Given the description of an element on the screen output the (x, y) to click on. 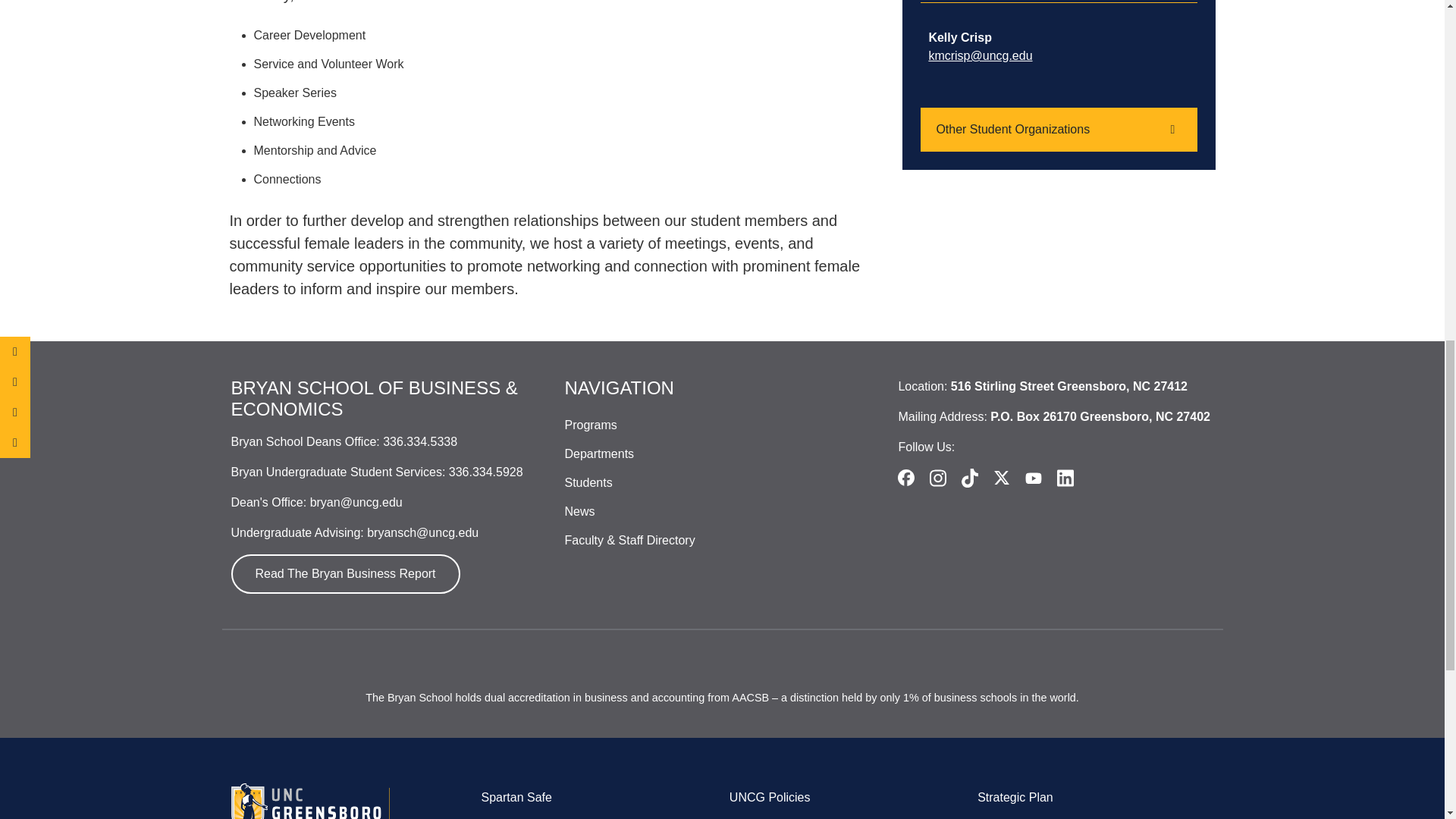
Facebook icon (906, 477)
X Twitter icon (1001, 477)
YouTube icon (1033, 477)
